Given the description of an element on the screen output the (x, y) to click on. 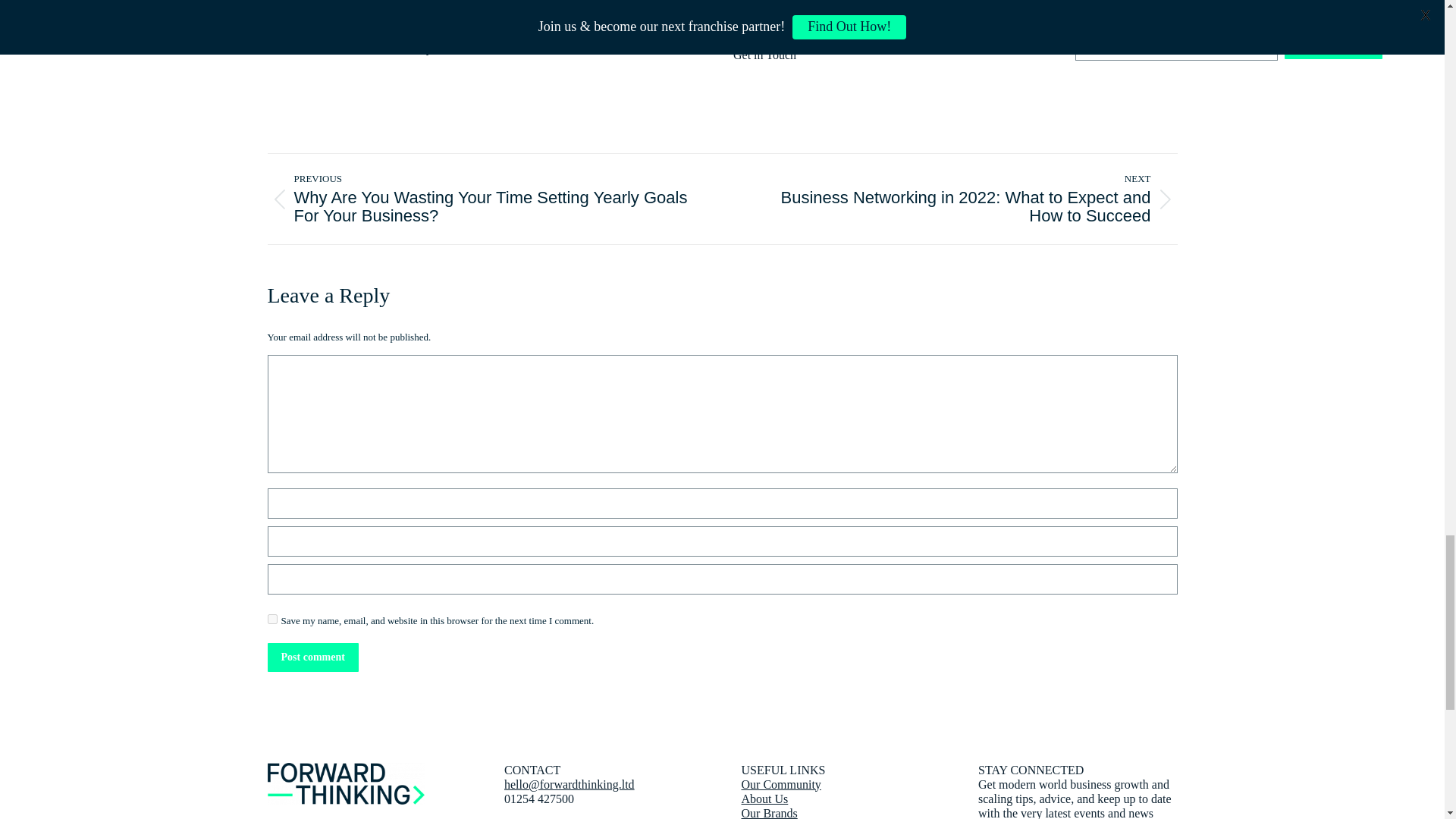
Post comment (312, 656)
Get in Touch (764, 54)
About Us (765, 798)
Our Community (781, 784)
Our Brands (769, 812)
Submit (1332, 44)
yes (271, 619)
Testimonials (763, 40)
Our Brands (761, 1)
Submit (1332, 44)
Knowledge Base (774, 10)
